Given the description of an element on the screen output the (x, y) to click on. 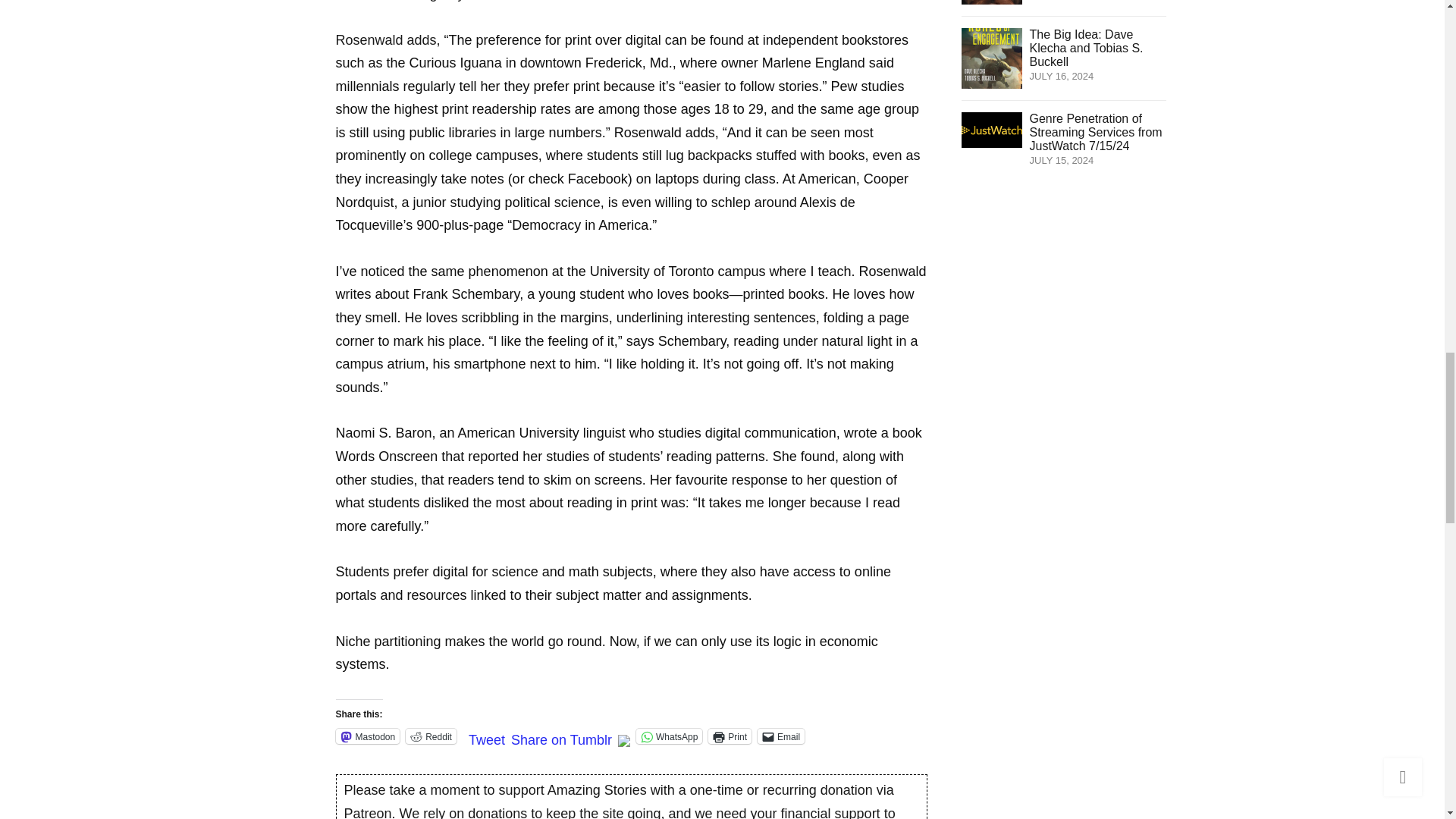
Click to print (729, 735)
Click to share on WhatsApp (668, 735)
Click to share on Reddit (431, 735)
Click to email a link to a friend (781, 735)
Click to share on Mastodon (366, 735)
Share on Tumblr (561, 735)
